Given the description of an element on the screen output the (x, y) to click on. 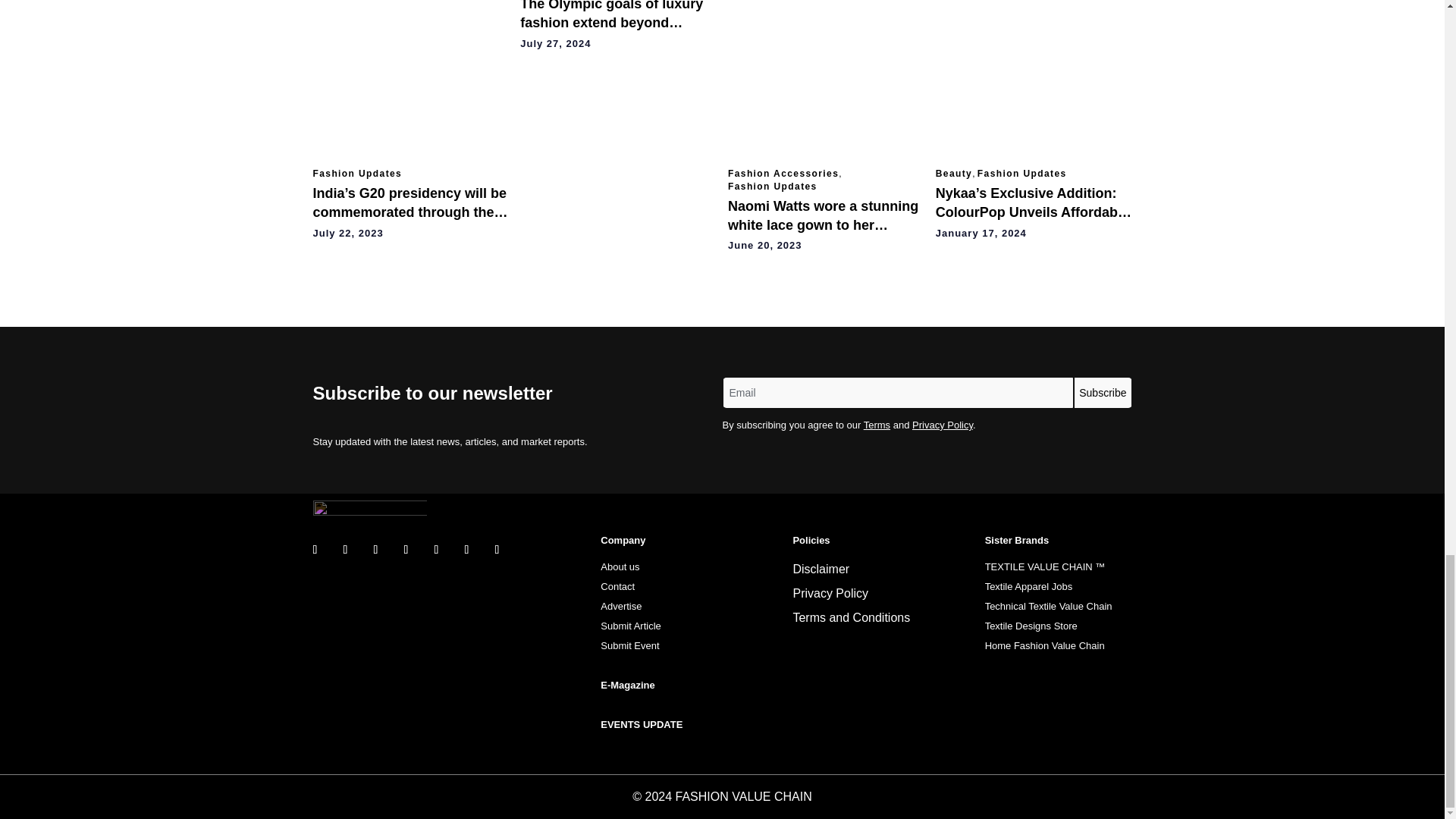
Fashion Accessories (783, 173)
Beauty (954, 173)
Fashion Updates (357, 173)
Fashion Updates (772, 186)
Subscribe (1102, 392)
